Given the description of an element on the screen output the (x, y) to click on. 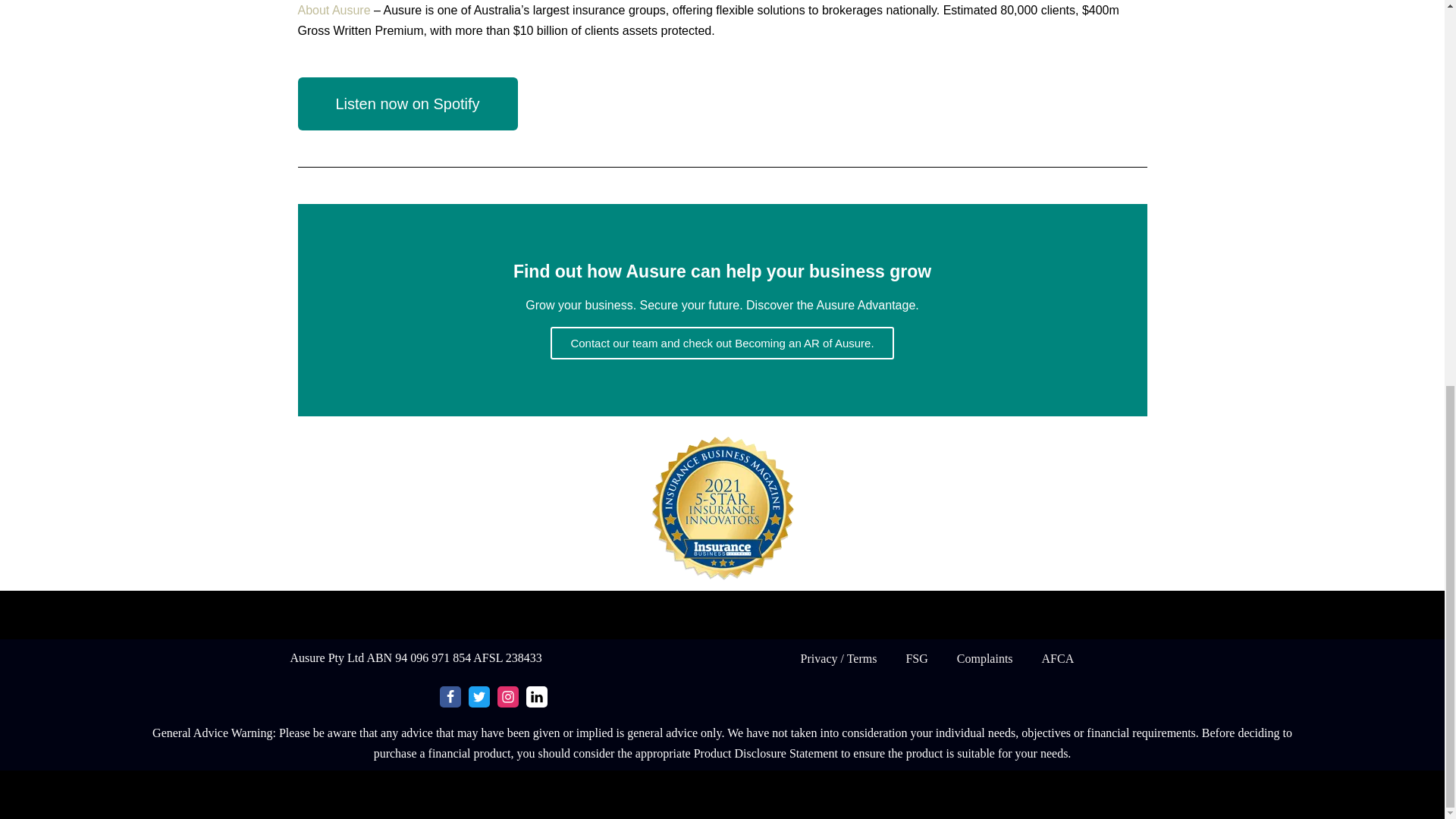
Twitter (478, 696)
Linkedin (536, 696)
Facebook (450, 696)
Instagram (507, 696)
